Given the description of an element on the screen output the (x, y) to click on. 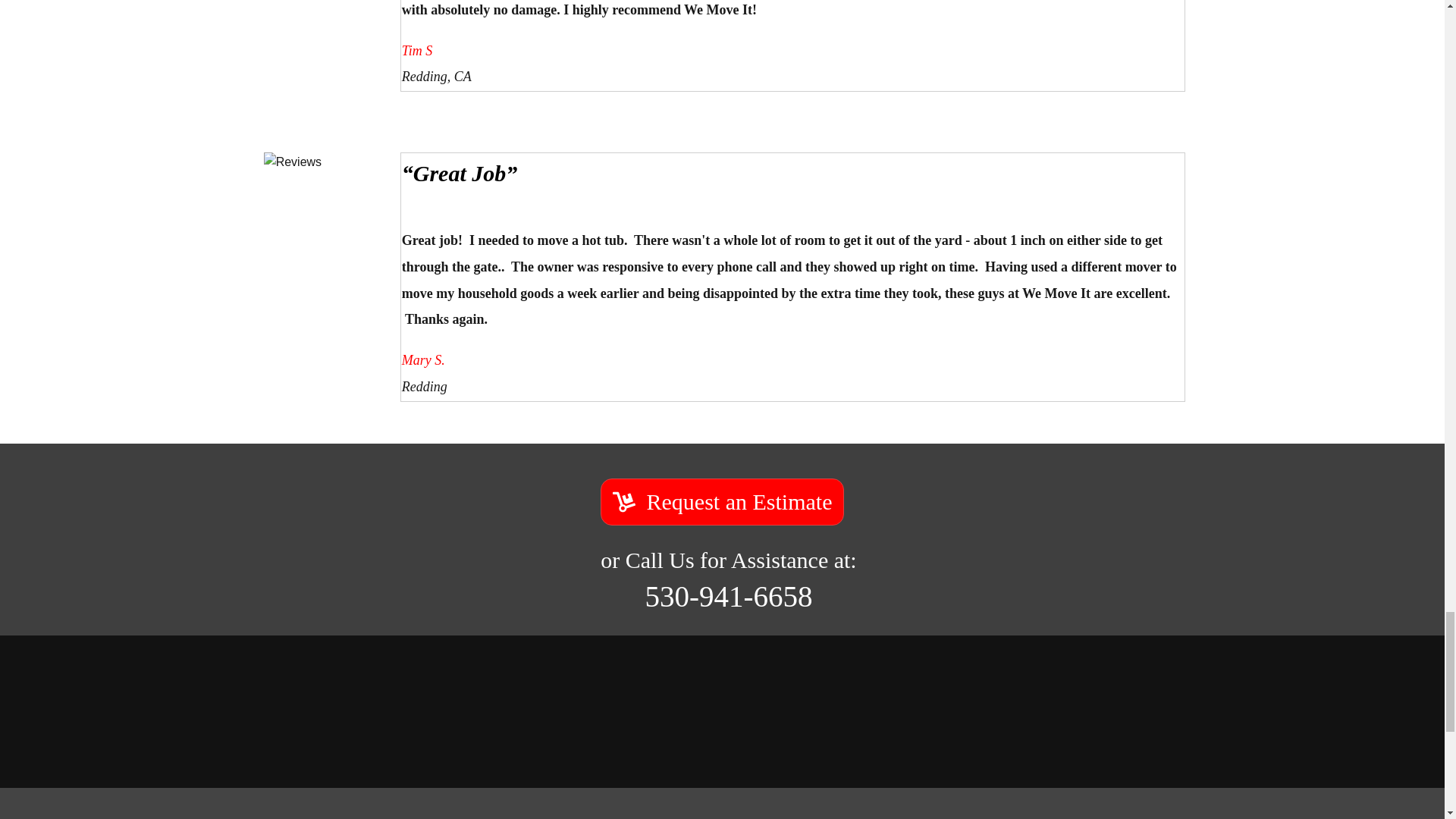
knowhow-person2 (324, 212)
Tim S (324, 35)
Request an Estimate (721, 501)
